Given the description of an element on the screen output the (x, y) to click on. 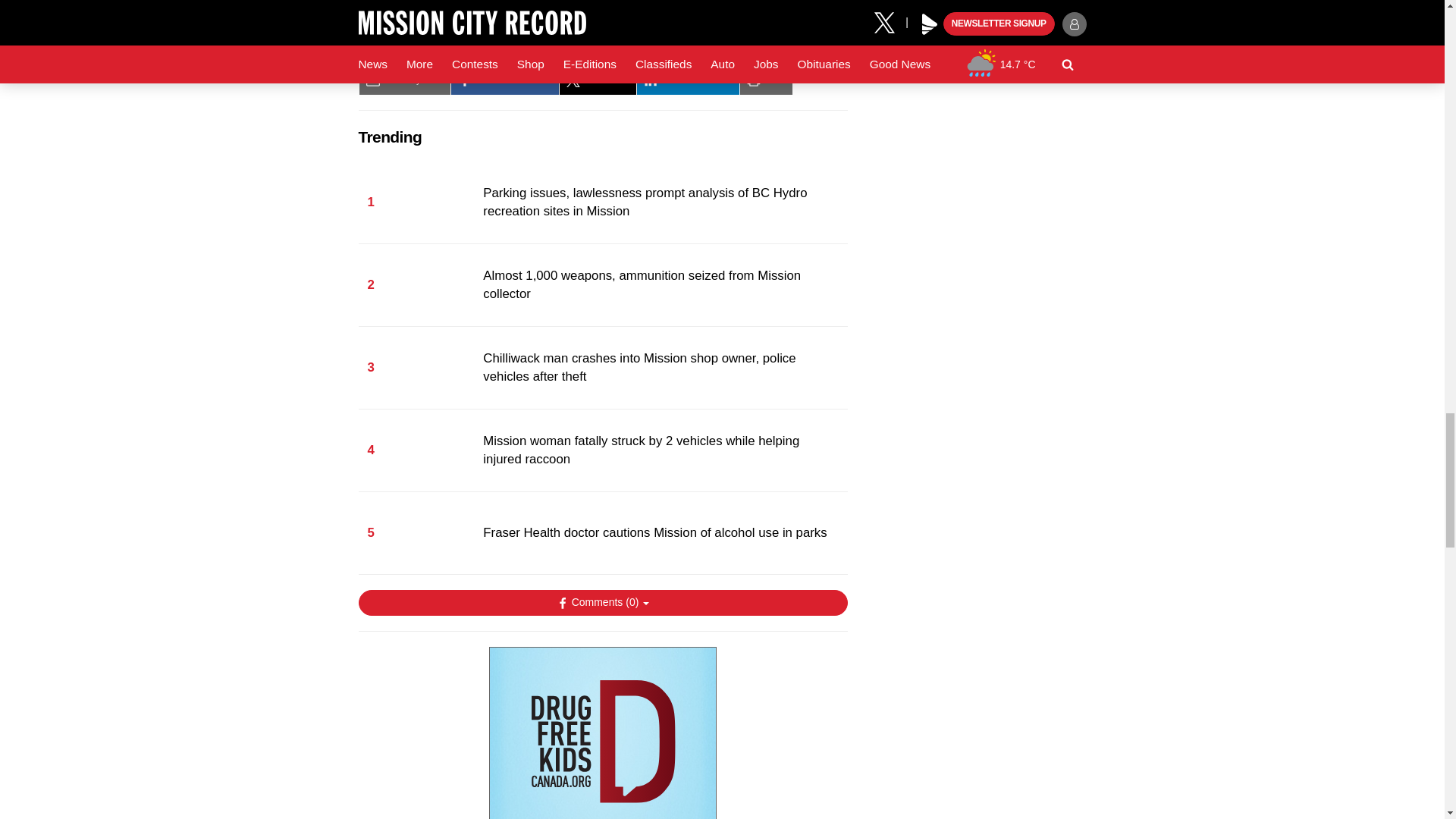
3rd party ad content (602, 733)
Show Comments (602, 602)
